Given the description of an element on the screen output the (x, y) to click on. 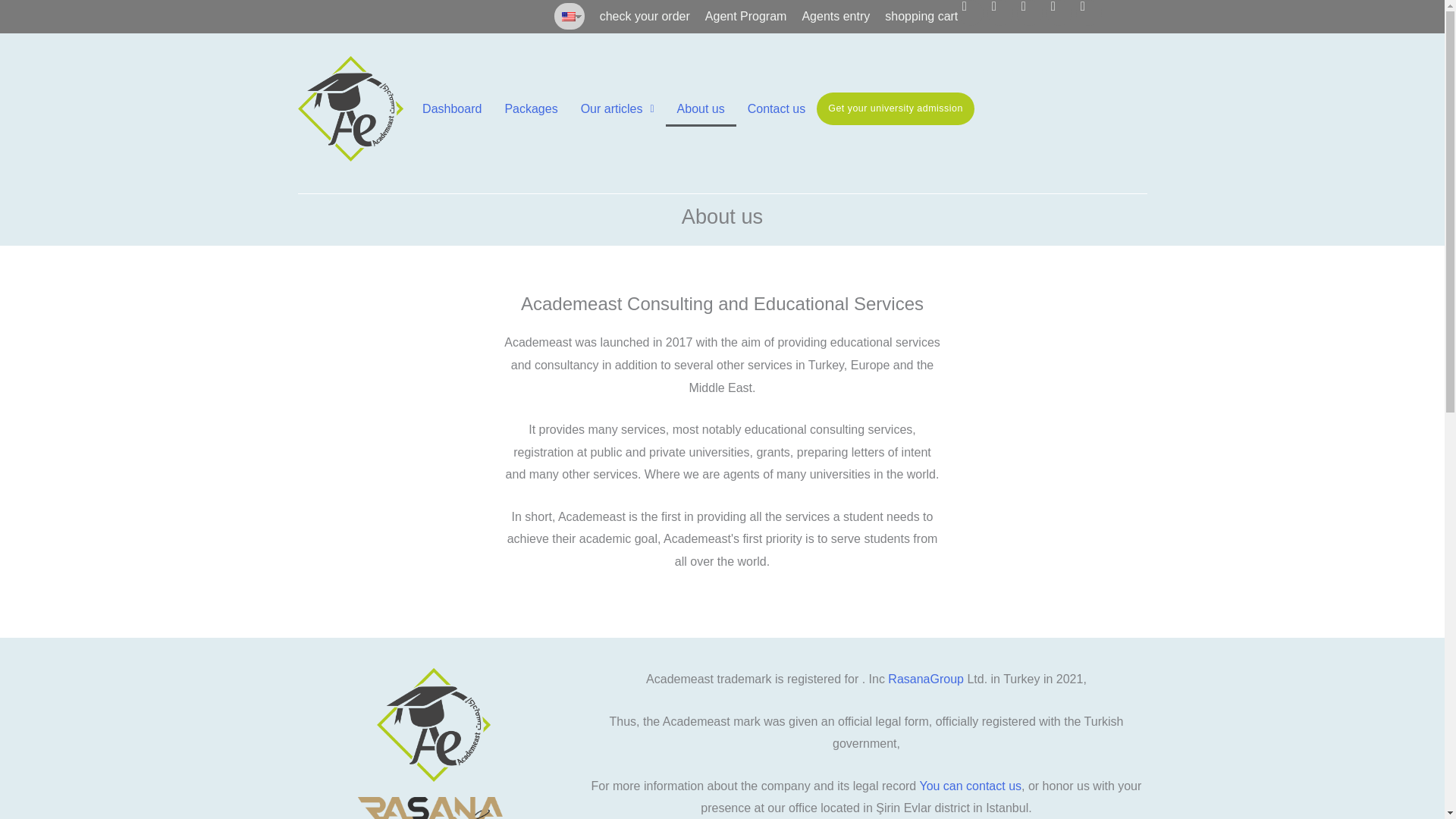
check your order (644, 16)
shopping cart (921, 16)
Agents entry (835, 16)
Agent Program (745, 16)
English (568, 16)
Dashboard (451, 108)
